Given the description of an element on the screen output the (x, y) to click on. 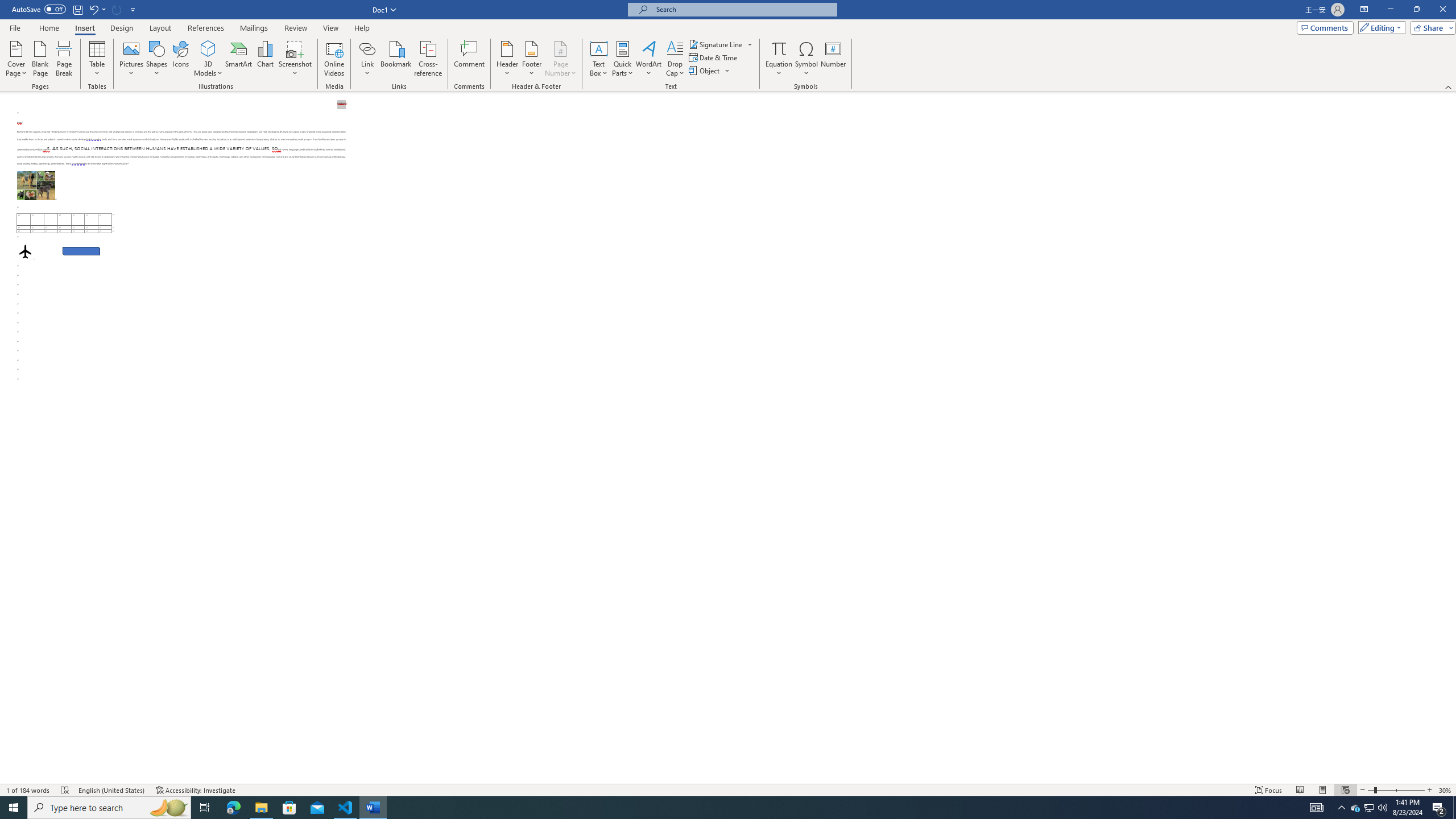
Link (367, 58)
Can't Repeat (117, 9)
File Tab (15, 27)
Language English (United States) (111, 790)
Chart... (265, 58)
Class: MsoCommandBar (728, 45)
Symbol (806, 58)
WordArt (648, 58)
Online Videos... (333, 58)
Link (367, 48)
Customize Quick Access Toolbar (133, 9)
References (205, 28)
